Given the description of an element on the screen output the (x, y) to click on. 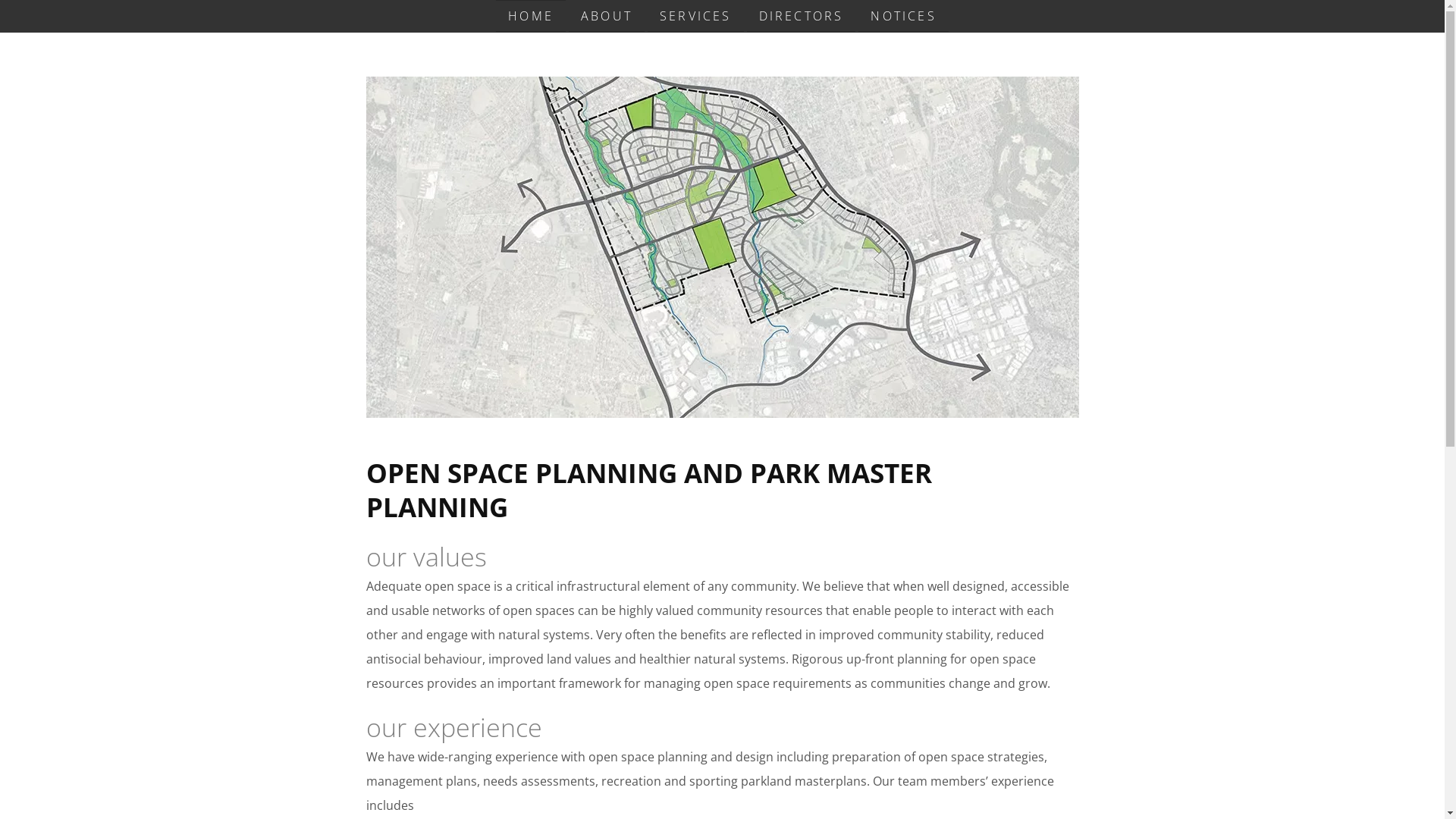
HOME Element type: text (530, 15)
DIRECTORS Element type: text (801, 15)
SERVICES Element type: text (695, 15)
ABOUT Element type: text (606, 15)
NOTICES Element type: text (902, 15)
